Given the description of an element on the screen output the (x, y) to click on. 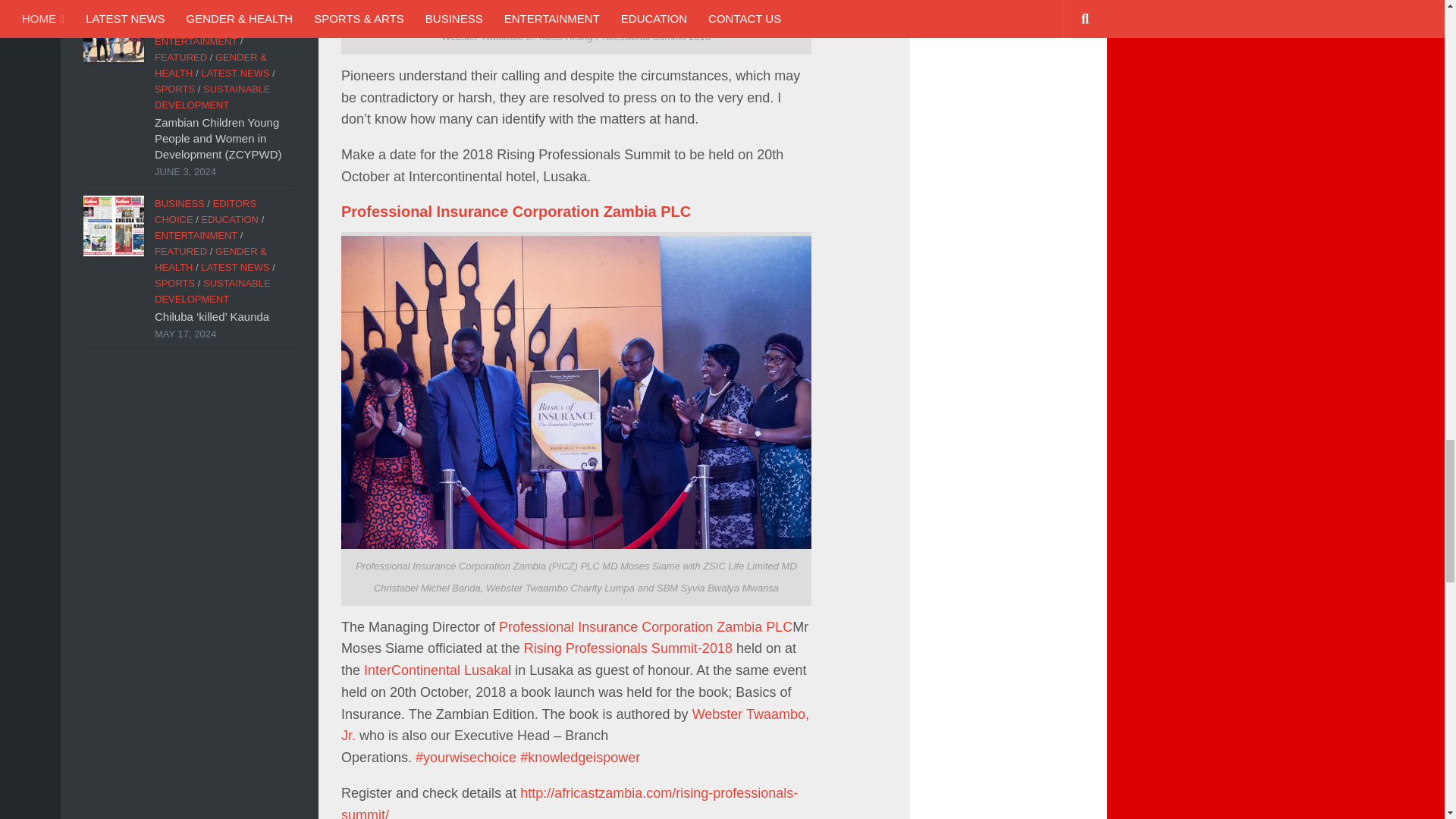
Professional Insurance Corporation Zambia PLC (645, 626)
Webster Twaambo, Jr. (574, 724)
Professional Insurance Corporation Zambia PLC (515, 211)
InterContinental Lusaka (436, 670)
Rising Professionals Summit-2018 (628, 648)
